Given the description of an element on the screen output the (x, y) to click on. 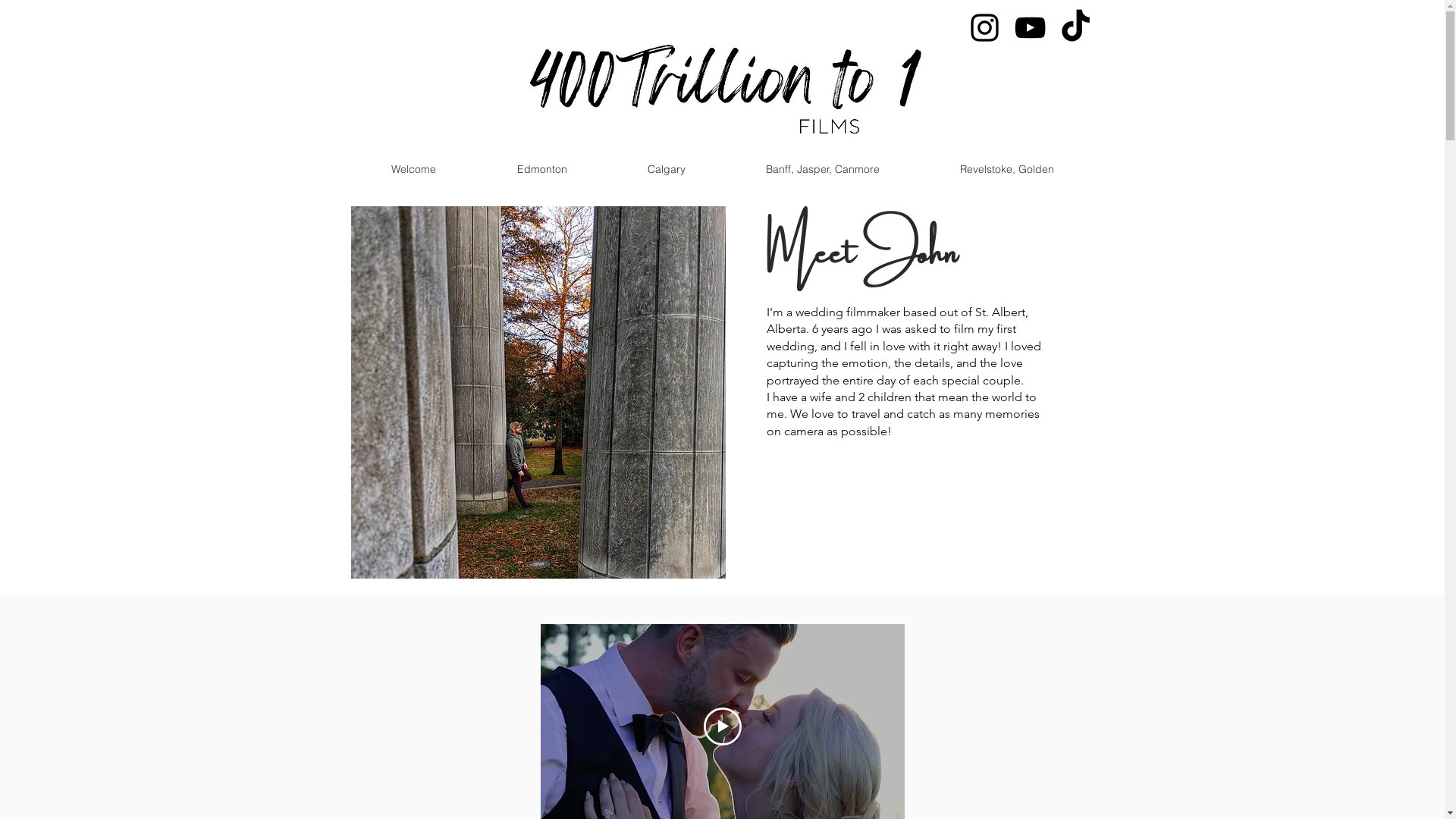
Banff, Jasper, Canmore Element type: text (821, 168)
Films_edited.jpg Element type: hover (721, 79)
Welcome Element type: text (413, 168)
Edmonton Element type: text (541, 168)
Revelstoke, Golden Element type: text (1006, 168)
Calgary Element type: text (665, 168)
